Given the description of an element on the screen output the (x, y) to click on. 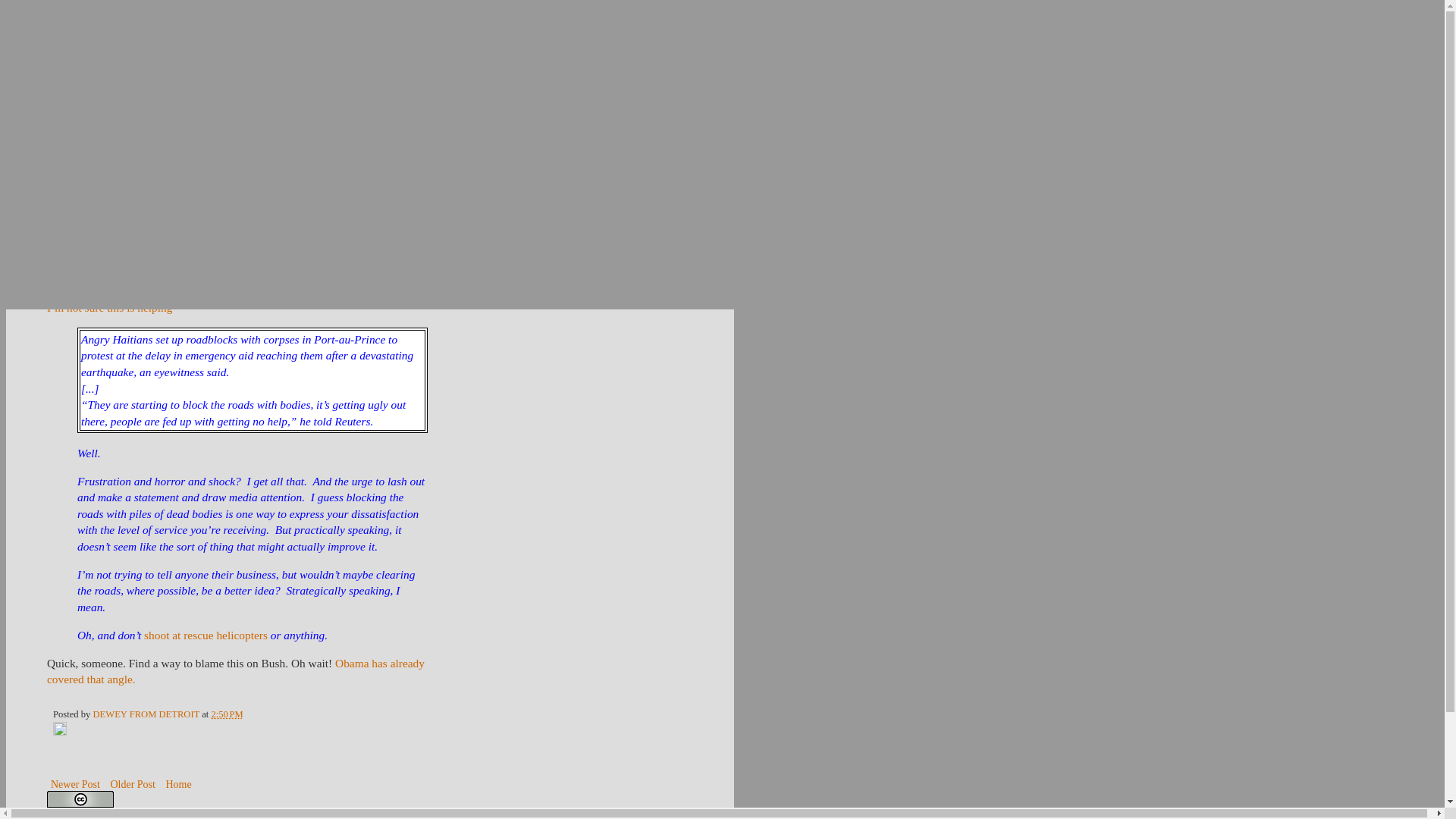
Home (178, 783)
DEWEY FROM DETROIT (369, 68)
Older Post (132, 783)
DEWEY FROM DETROIT (147, 714)
deweyfromdetroit (84, 818)
Older Post (132, 783)
Edit Post (59, 732)
Obama has already covered that angle. (235, 671)
Newer Post (74, 783)
